Given the description of an element on the screen output the (x, y) to click on. 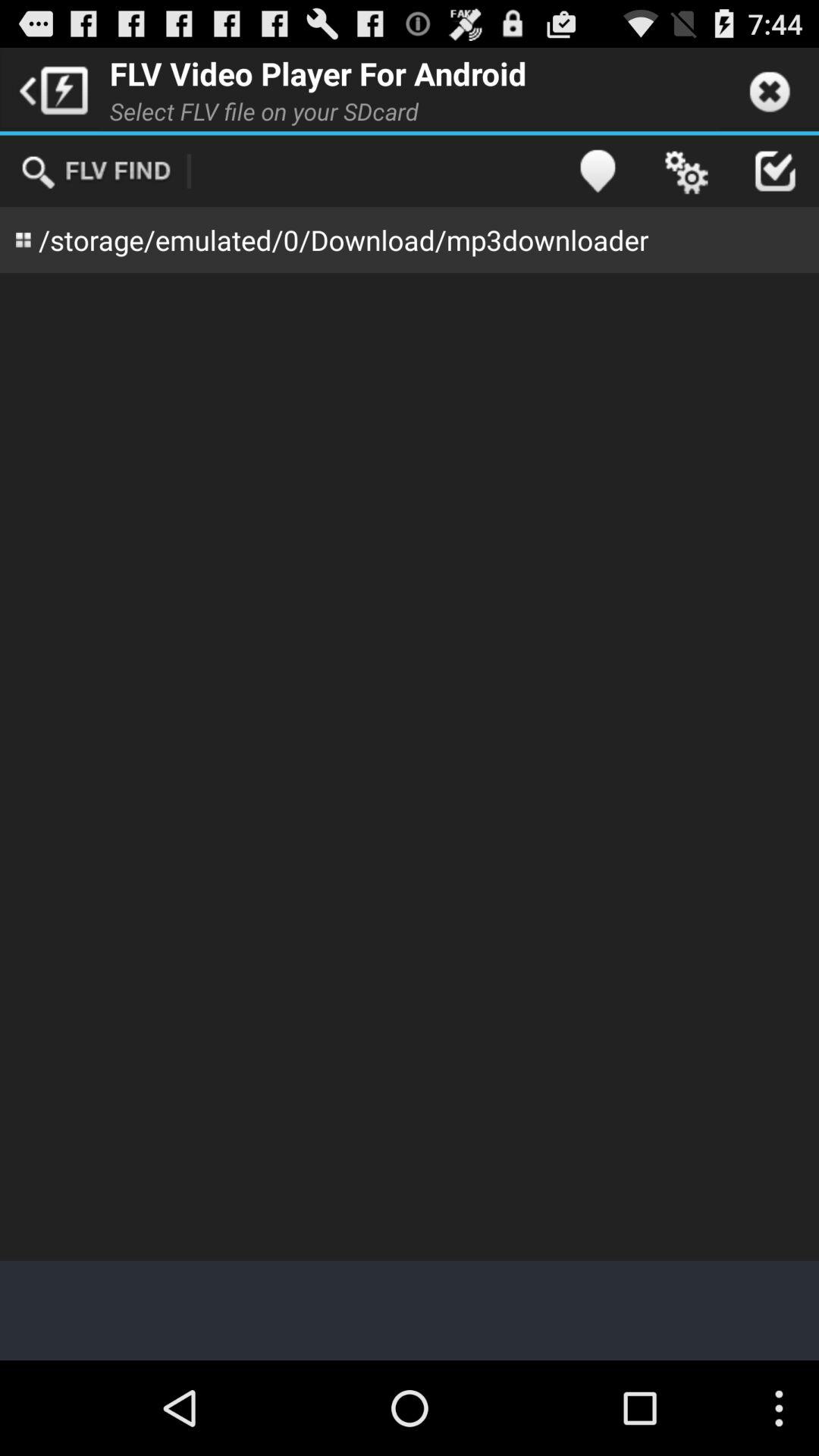
turn off app next to the select flv file item (596, 171)
